Given the description of an element on the screen output the (x, y) to click on. 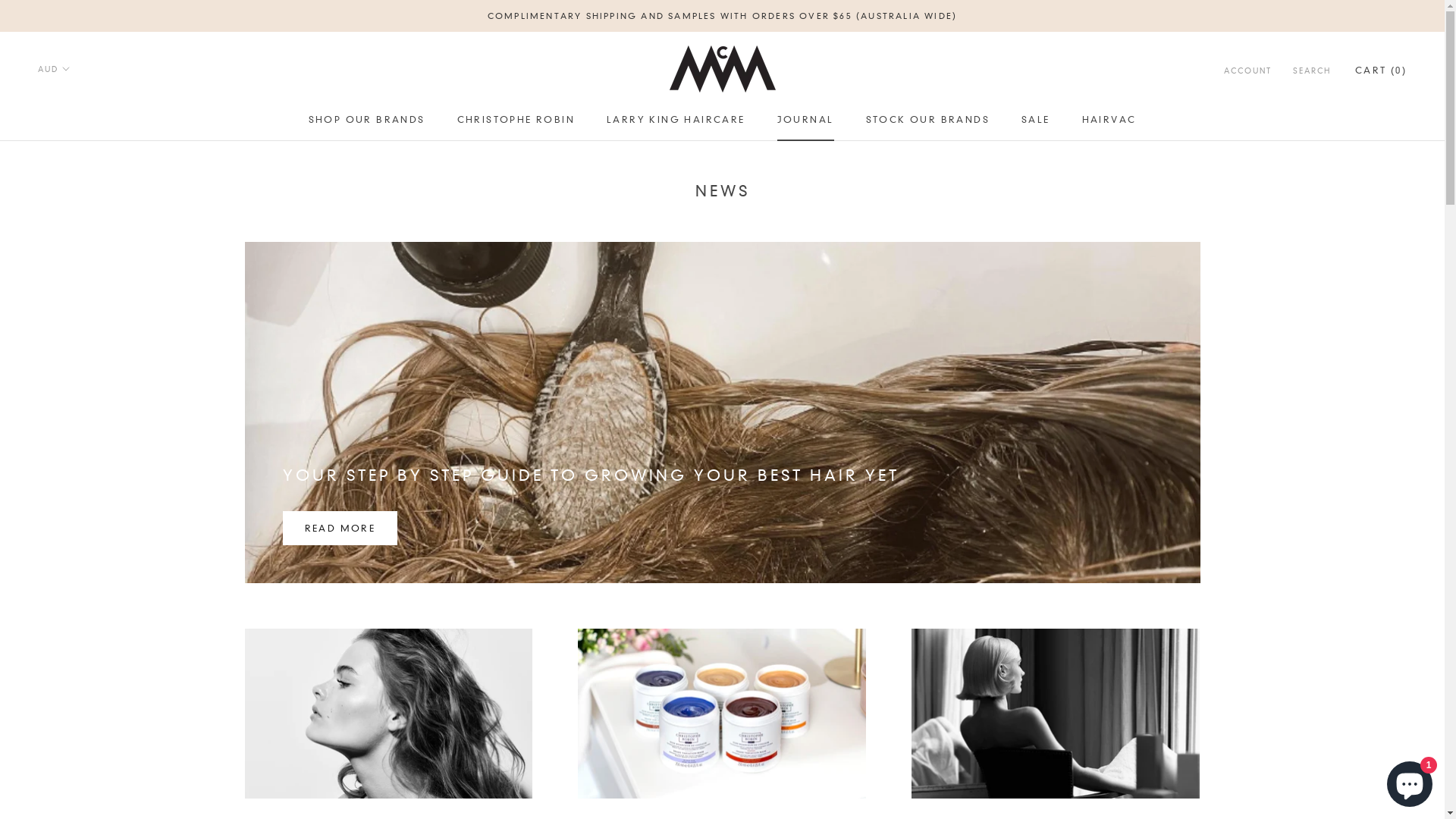
CART (0) Element type: text (1380, 69)
SEARCH Element type: text (1311, 71)
ACCOUNT Element type: text (1247, 71)
CHRISTOPHE ROBIN
CHRISTOPHE ROBIN Element type: text (515, 119)
Shopify online store chat Element type: hover (1409, 780)
HAIRVAC
HAIRVAC Element type: text (1109, 119)
READ MORE Element type: text (339, 528)
SALE
SALE Element type: text (1035, 119)
YOUR STEP BY STEP GUIDE TO GROWING YOUR BEST HAIR YET Element type: text (590, 475)
LARRY KING HAIRCARE
LARRY KING HAIRCARE Element type: text (675, 119)
SHOP OUR BRANDS Element type: text (366, 119)
STOCK OUR BRANDS
STOCK OUR BRANDS Element type: text (927, 119)
JOURNAL
JOURNAL Element type: text (805, 119)
